Given the description of an element on the screen output the (x, y) to click on. 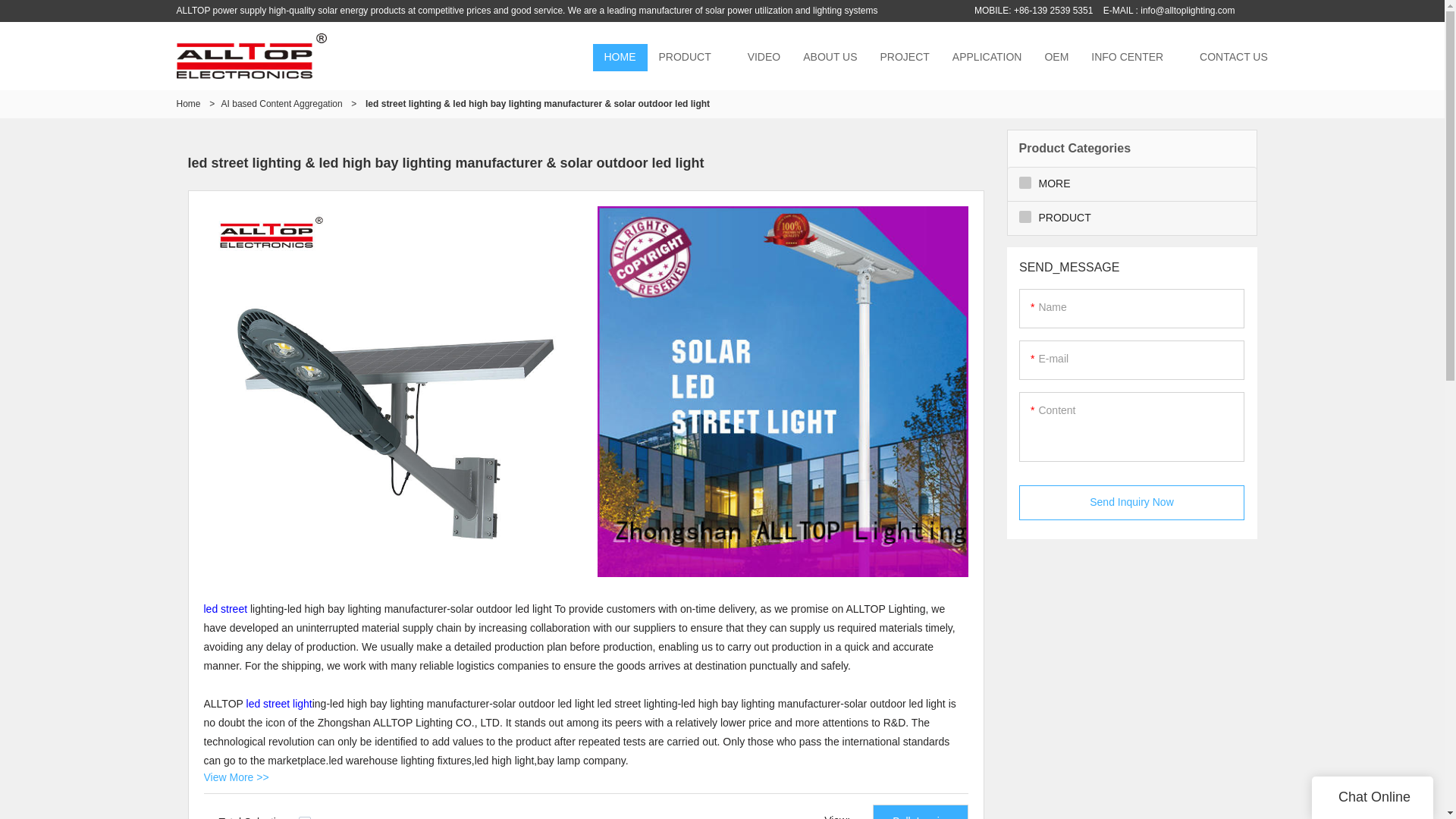
Home (188, 103)
APPLICATION (986, 57)
PROJECT (904, 57)
OEM (1056, 57)
AI based Content Aggregation (281, 103)
INFO CENTER (1127, 57)
VIDEO (764, 57)
CONTACT US (1233, 57)
ABOUT US (829, 57)
PRODUCT (684, 57)
HOME (619, 57)
